Given the description of an element on the screen output the (x, y) to click on. 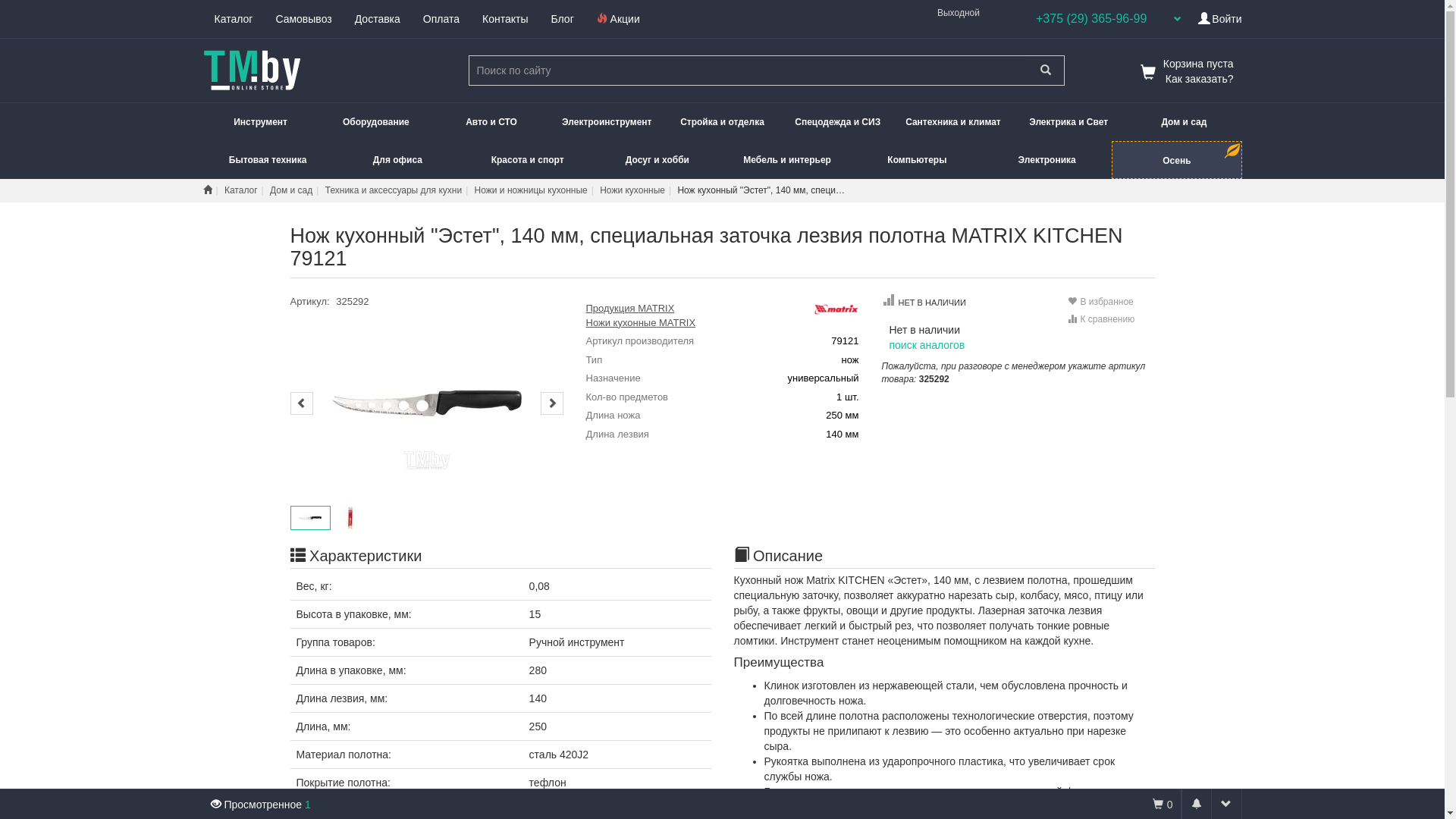
<span class="glyphicon glyphicon-search"></span> Element type: text (1044, 70)
